Given the description of an element on the screen output the (x, y) to click on. 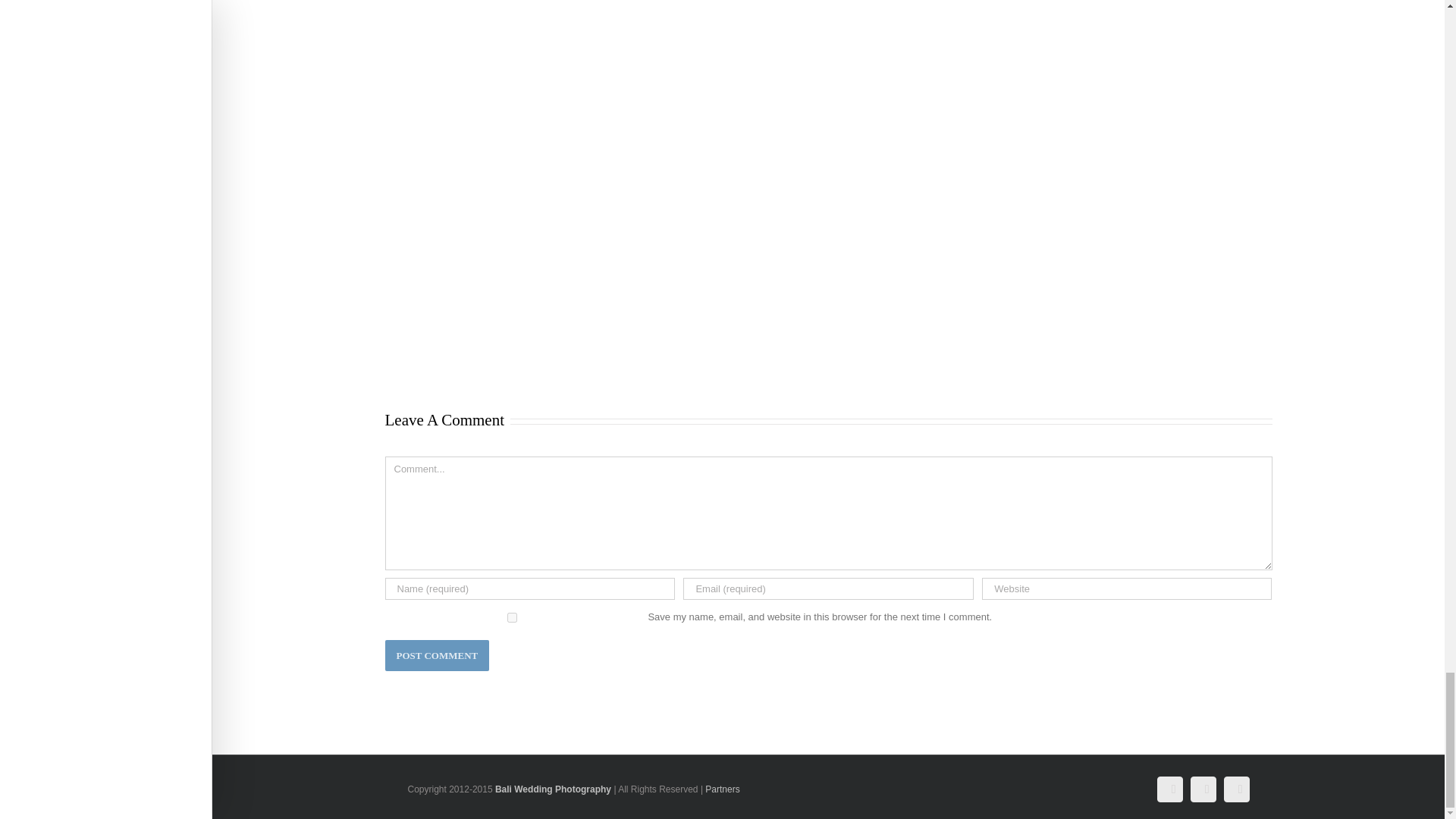
Instagram (1236, 789)
yes (512, 617)
Twitter (1203, 789)
Facebook (1169, 789)
Post Comment (437, 654)
